Given the description of an element on the screen output the (x, y) to click on. 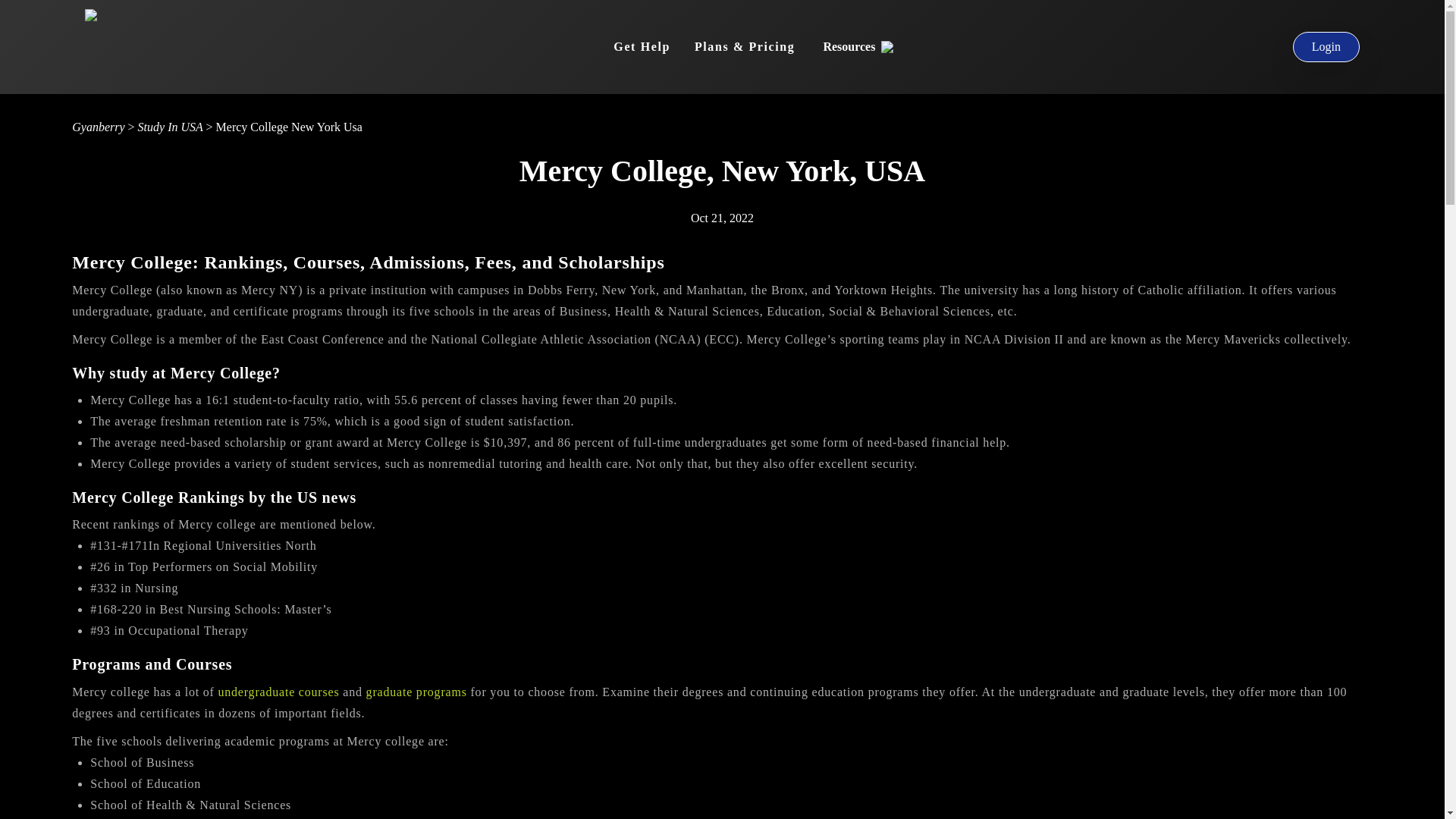
Study In USA (170, 126)
Login (1325, 46)
Resources (858, 46)
Gyanberry (99, 126)
Get Help (640, 46)
undergraduate courses (277, 691)
graduate programs (416, 691)
